Given the description of an element on the screen output the (x, y) to click on. 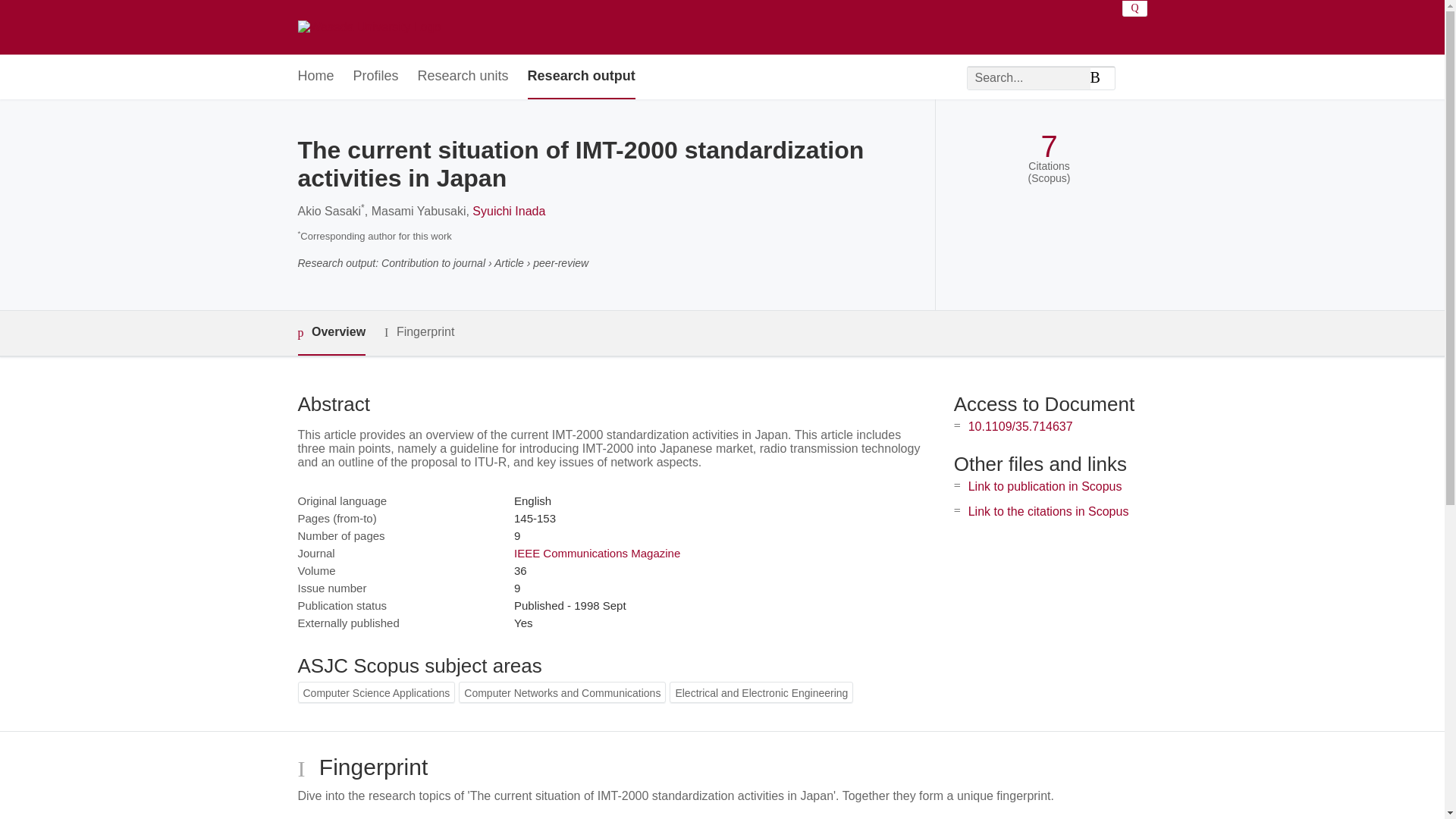
7 (1049, 146)
Overview (331, 333)
Waseda University Home (369, 27)
Link to publication in Scopus (1045, 486)
IEEE Communications Magazine (596, 553)
Fingerprint (419, 332)
Home (315, 76)
Profiles (375, 76)
Syuichi Inada (507, 210)
Research output (580, 76)
Link to the citations in Scopus (1048, 511)
Research units (462, 76)
